Given the description of an element on the screen output the (x, y) to click on. 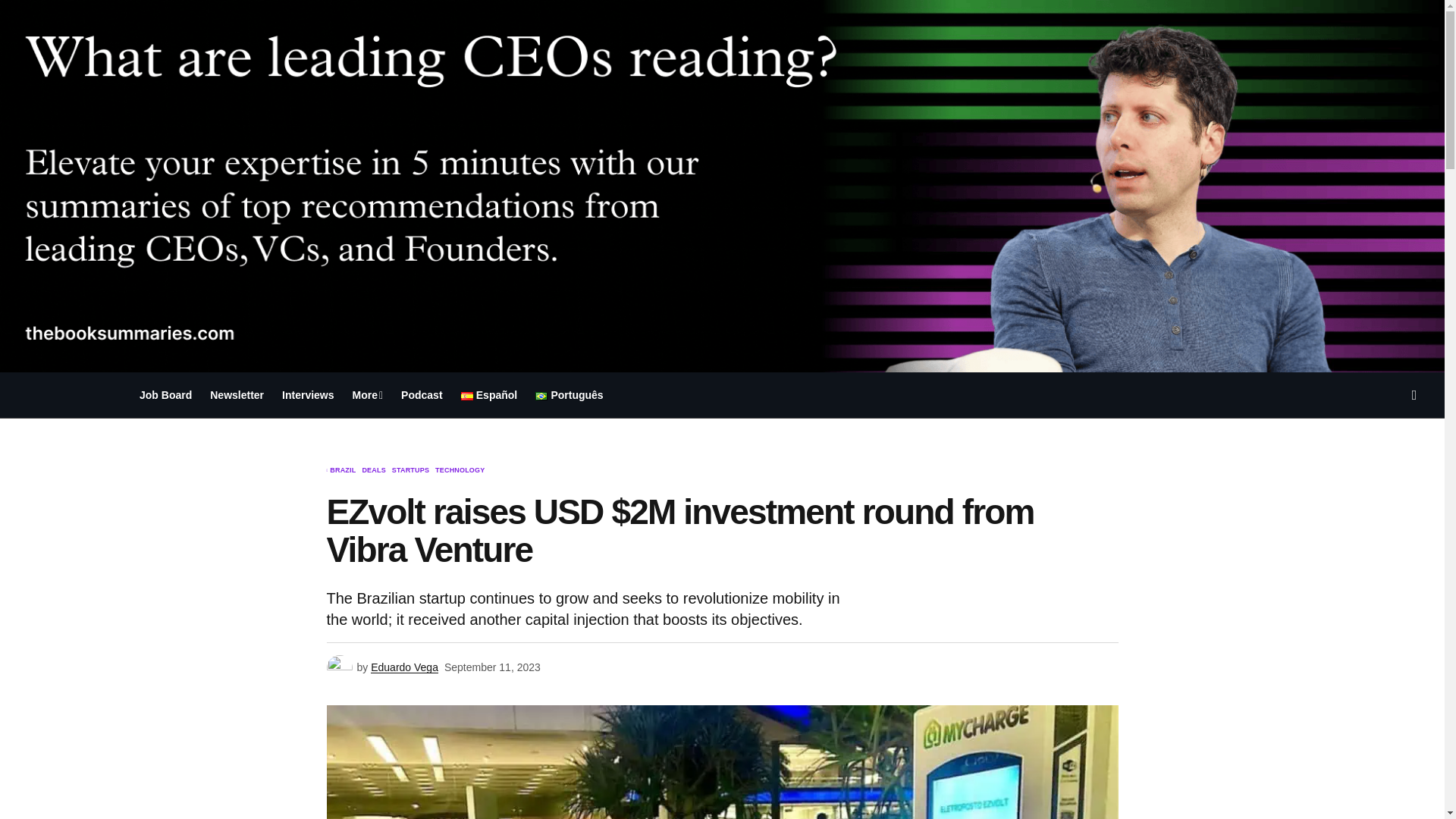
More (368, 394)
BRAZIL (342, 470)
Podcast (421, 394)
STARTUPS (410, 470)
Interviews (307, 394)
TECHNOLOGY (459, 470)
DEALS (373, 470)
Newsletter (236, 394)
Job Board (165, 394)
Eduardo Vega (404, 667)
